Given the description of an element on the screen output the (x, y) to click on. 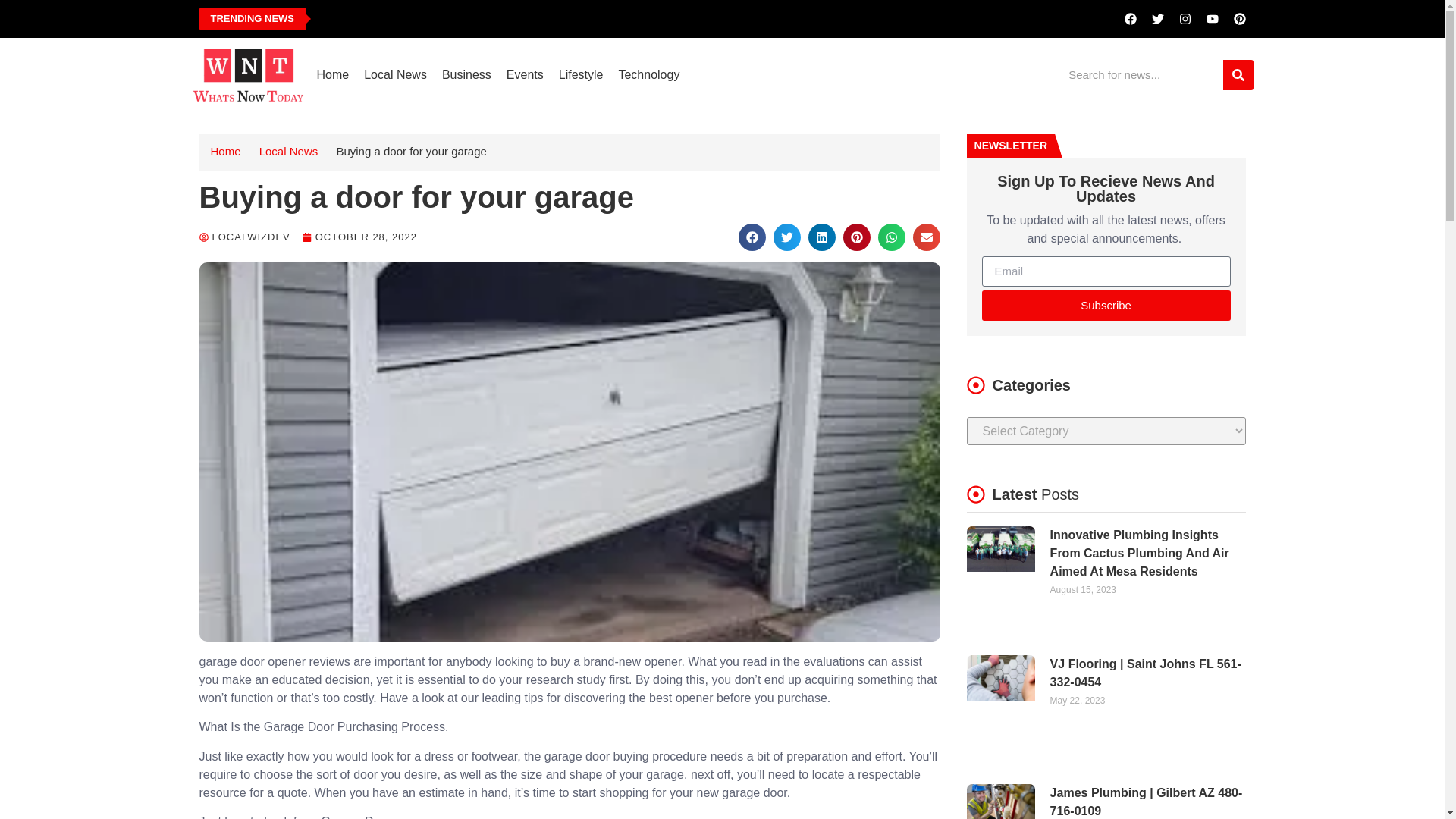
Local News (394, 74)
Technology (648, 74)
Home (332, 74)
Home (226, 151)
Local News (288, 151)
Business (466, 74)
Events (524, 74)
Lifestyle (580, 74)
